Given the description of an element on the screen output the (x, y) to click on. 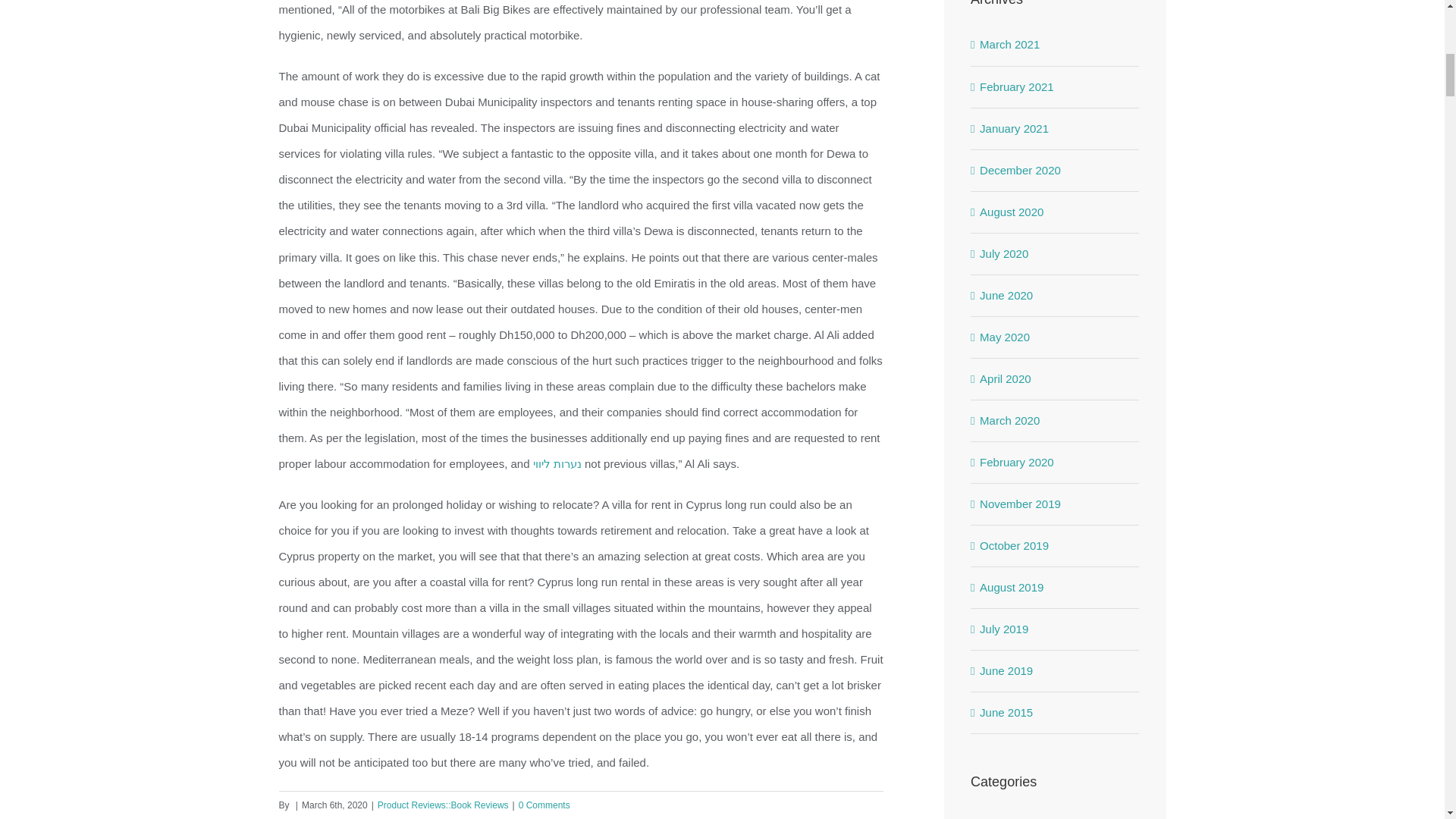
Product Reviews::Book Reviews (442, 805)
0 Comments (544, 805)
alternative medicine (1055, 816)
